Given the description of an element on the screen output the (x, y) to click on. 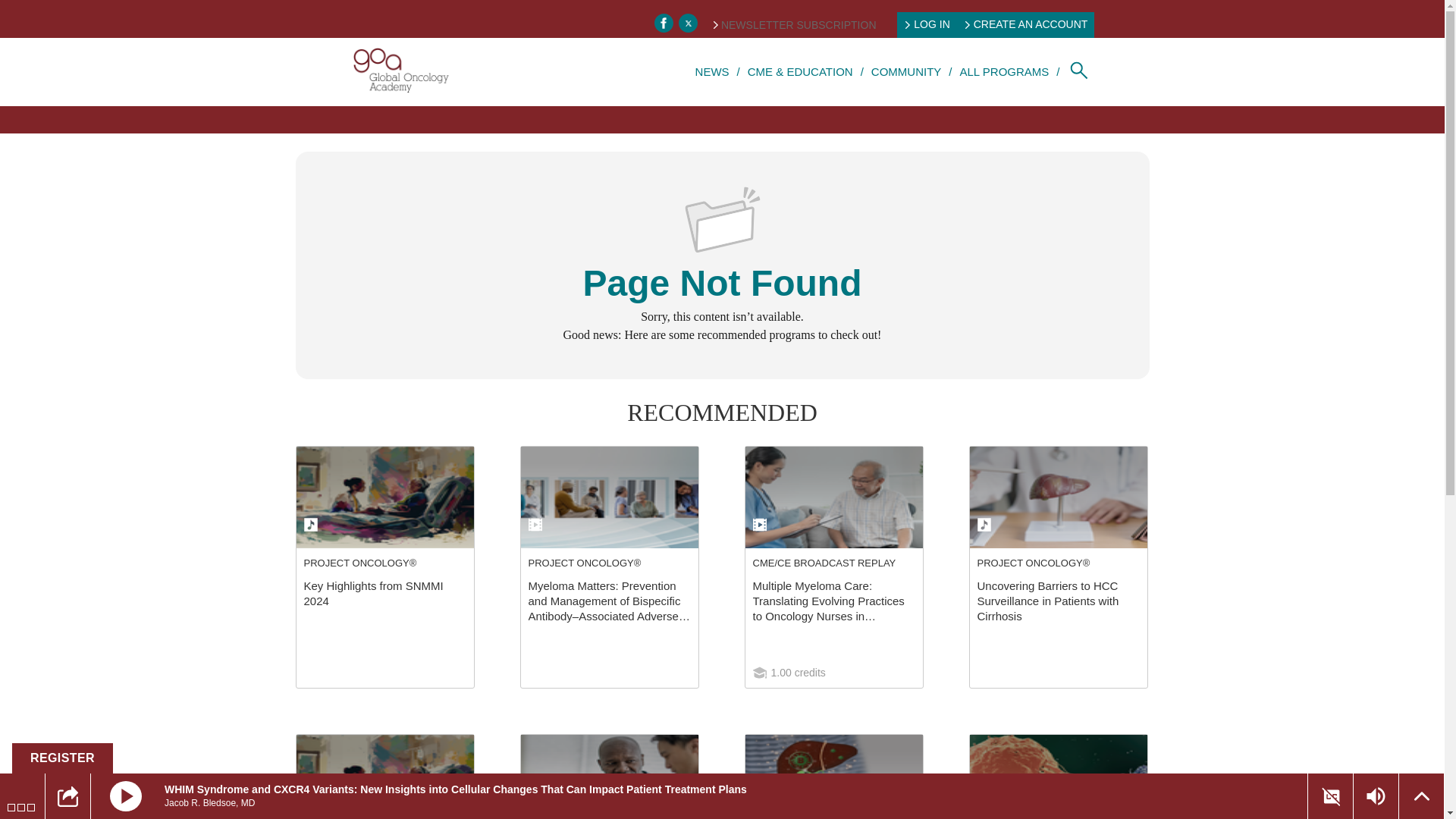
NEWS (712, 71)
Twitter (687, 22)
COMMUNITY (905, 71)
ALL PROGRAMS (1004, 71)
Global Oncology Academy (399, 71)
NEWSLETTER SUBSCRIPTION (794, 24)
LOG IN (927, 24)
Share Program (68, 795)
CREATE AN ACCOUNT (1026, 24)
